Given the description of an element on the screen output the (x, y) to click on. 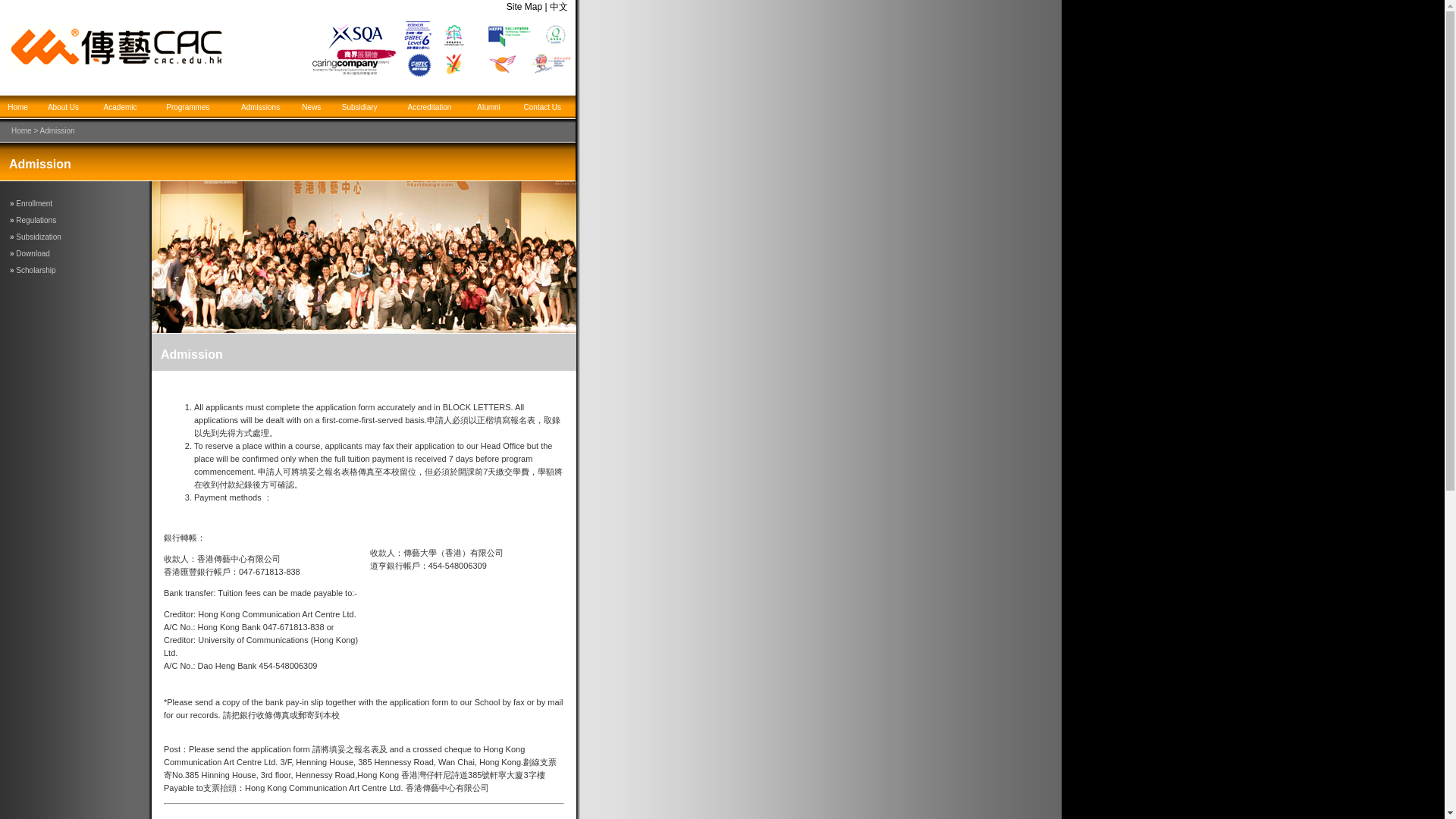
Programmes (187, 107)
Subsidiary (359, 107)
Academic (119, 107)
Admission (57, 130)
Admission (39, 164)
Admissions (260, 107)
News (310, 107)
Home (17, 107)
Admission (191, 354)
Contact Us (542, 107)
Accreditation (429, 107)
About Us (63, 107)
Home (21, 130)
Alumni (488, 107)
